Given the description of an element on the screen output the (x, y) to click on. 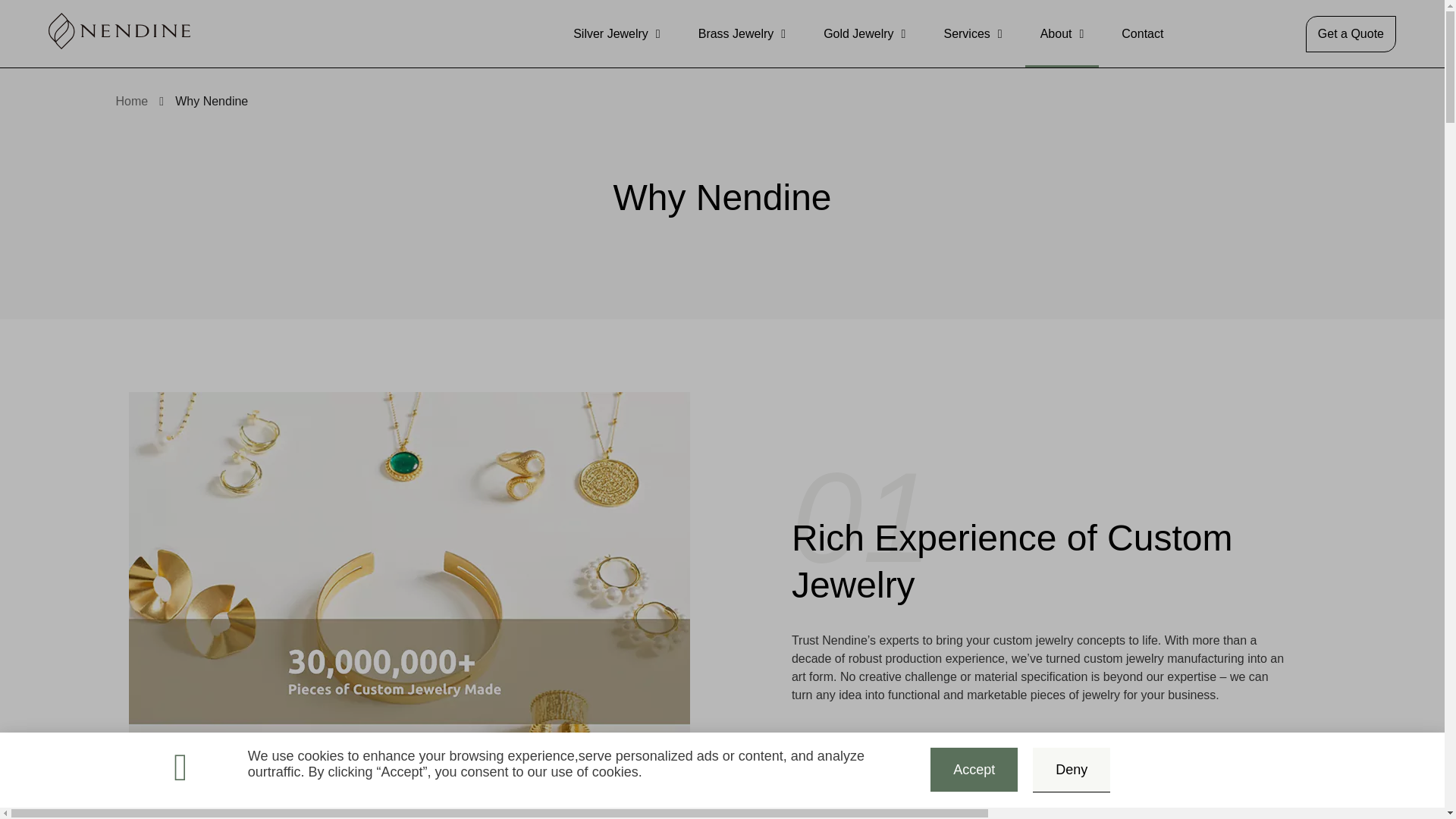
Brass Jewelry (741, 33)
Silver Jewelry (616, 33)
Home (131, 101)
Why Nendine (210, 101)
